Given the description of an element on the screen output the (x, y) to click on. 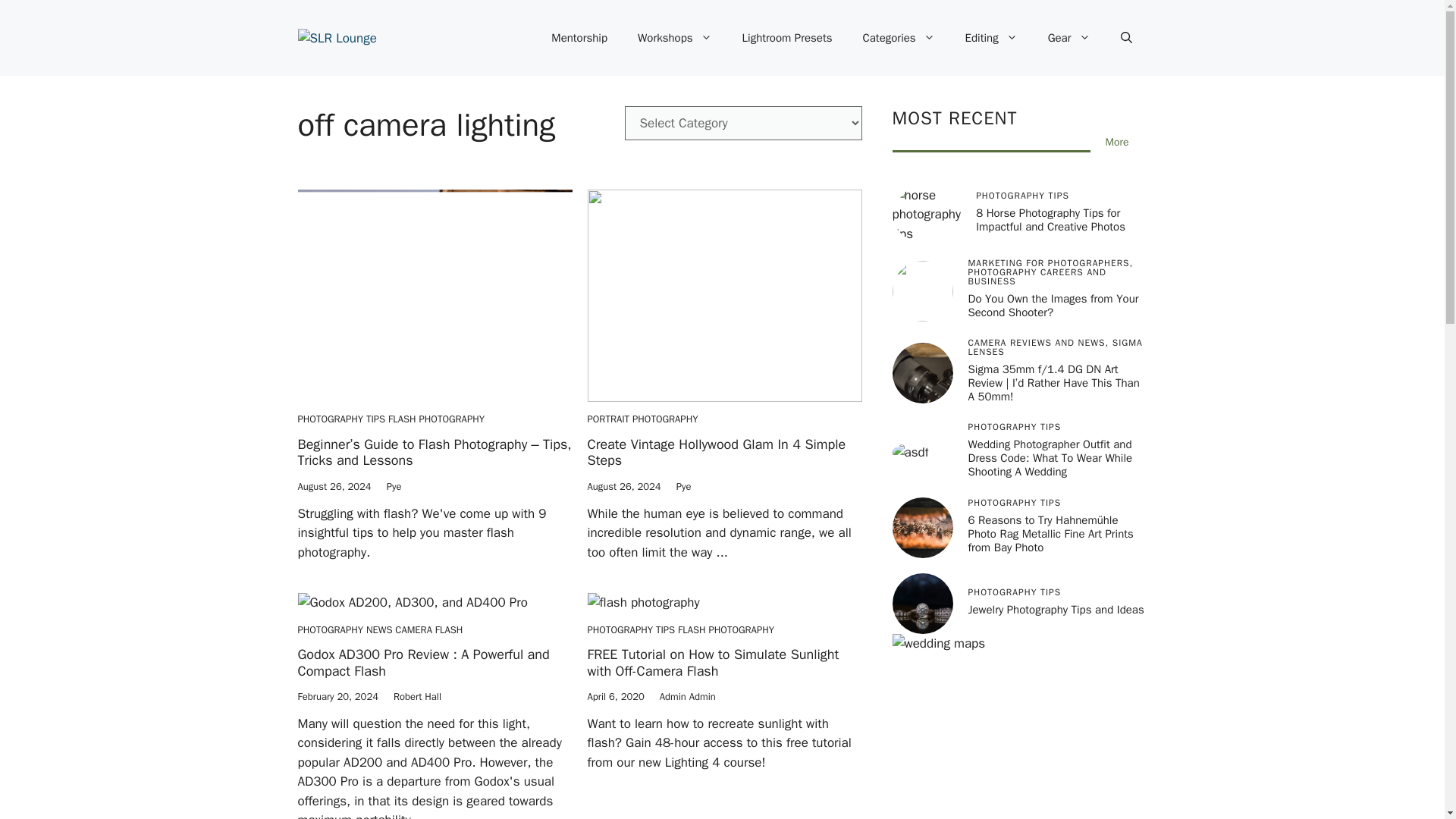
PHOTOGRAPHY TIPS (341, 418)
Gear (1068, 37)
Editing (991, 37)
Mentorship (579, 37)
Categories (898, 37)
Lightroom Presets (786, 37)
Workshops (674, 37)
